Given the description of an element on the screen output the (x, y) to click on. 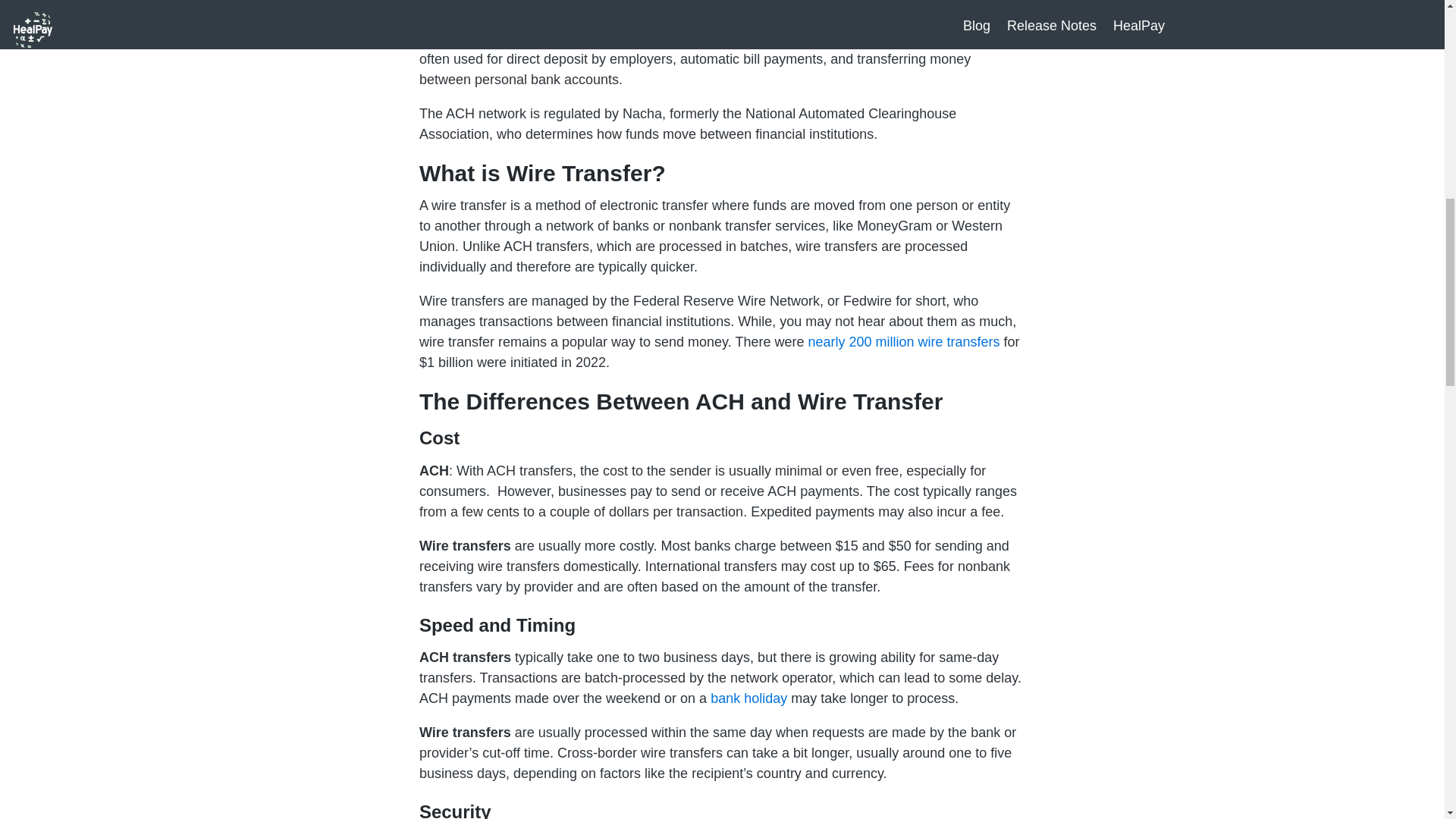
ACH, or Automated Clearing House, (529, 17)
bank holiday (748, 698)
nearly 200 million wire transfers (903, 341)
